Given the description of an element on the screen output the (x, y) to click on. 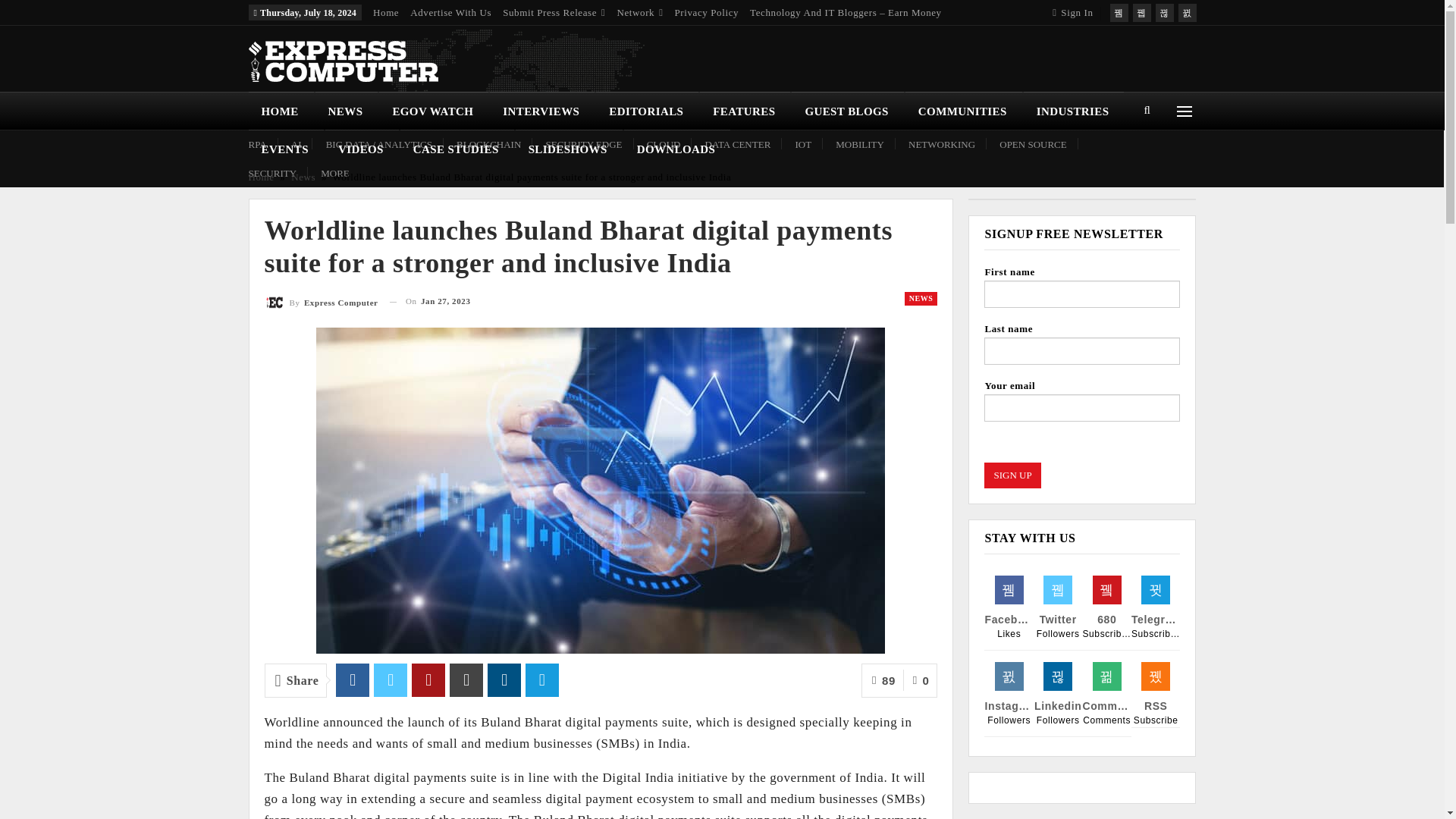
SECURITY (272, 172)
SECURITY EDGE (584, 143)
OPEN SOURCE (1032, 143)
RPA (257, 143)
NETWORKING (941, 143)
Advertise With Us (451, 12)
AI (296, 143)
Privacy Policy (707, 12)
Sign In (1075, 12)
MOBILITY (859, 143)
Browse Author Articles (320, 301)
MORE (334, 172)
IOT (802, 143)
HOME (281, 111)
Home (385, 12)
